Given the description of an element on the screen output the (x, y) to click on. 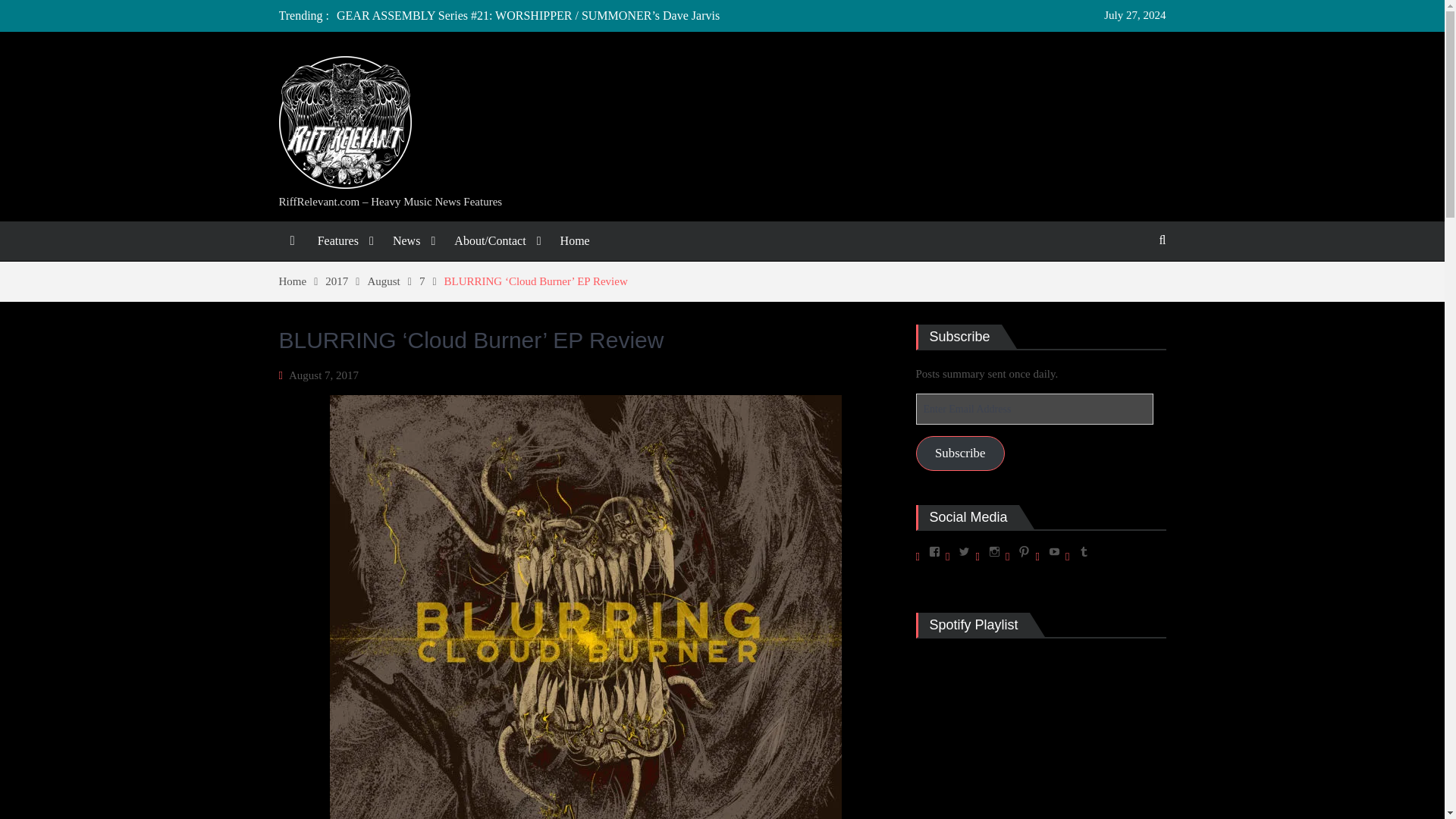
7 (431, 281)
News (411, 241)
August 7, 2017 (323, 375)
Home (302, 281)
Features (343, 241)
August (392, 281)
2017 (345, 281)
Home (574, 241)
